Given the description of an element on the screen output the (x, y) to click on. 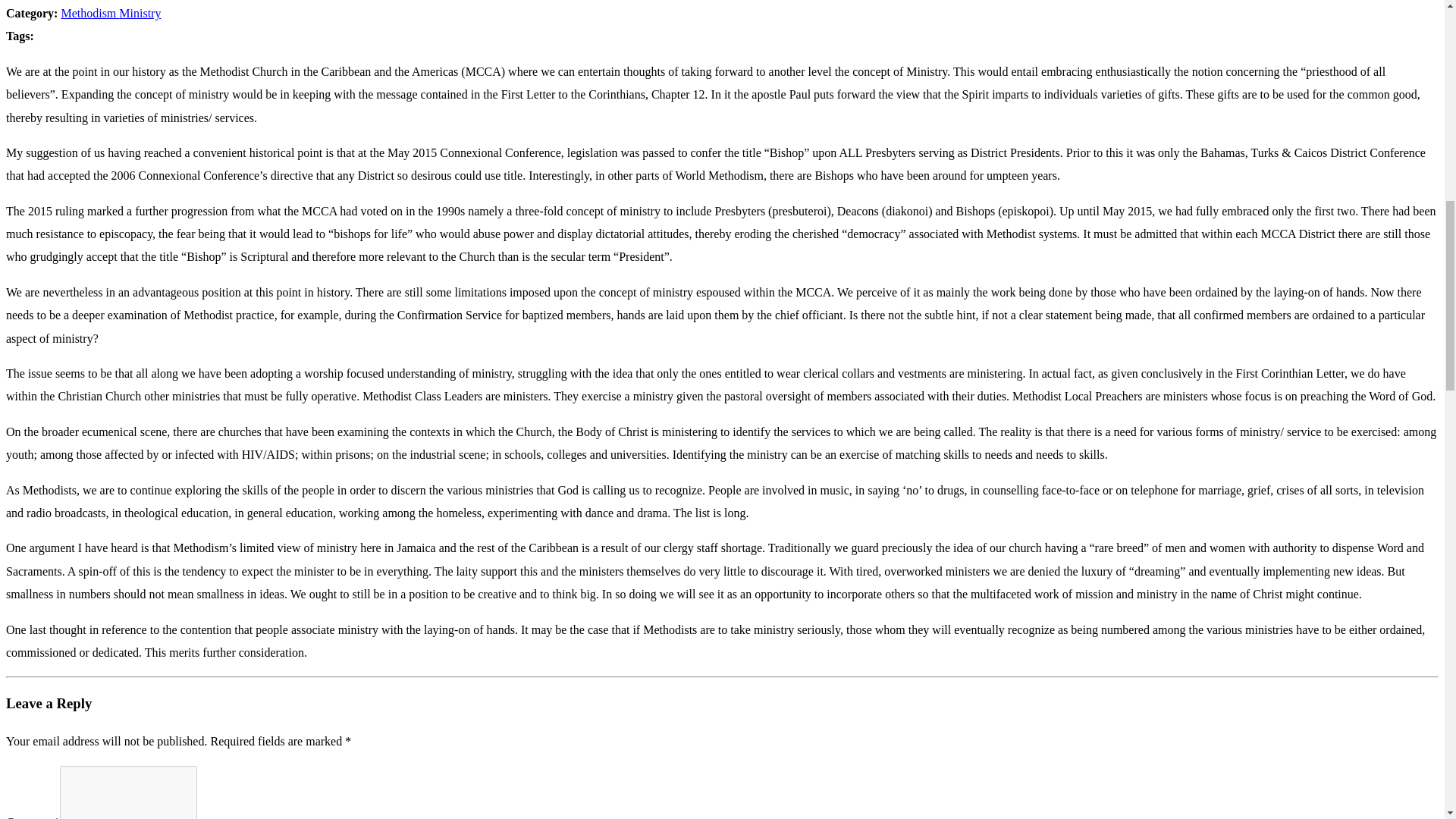
Methodism (90, 12)
Ministry (139, 12)
